Given the description of an element on the screen output the (x, y) to click on. 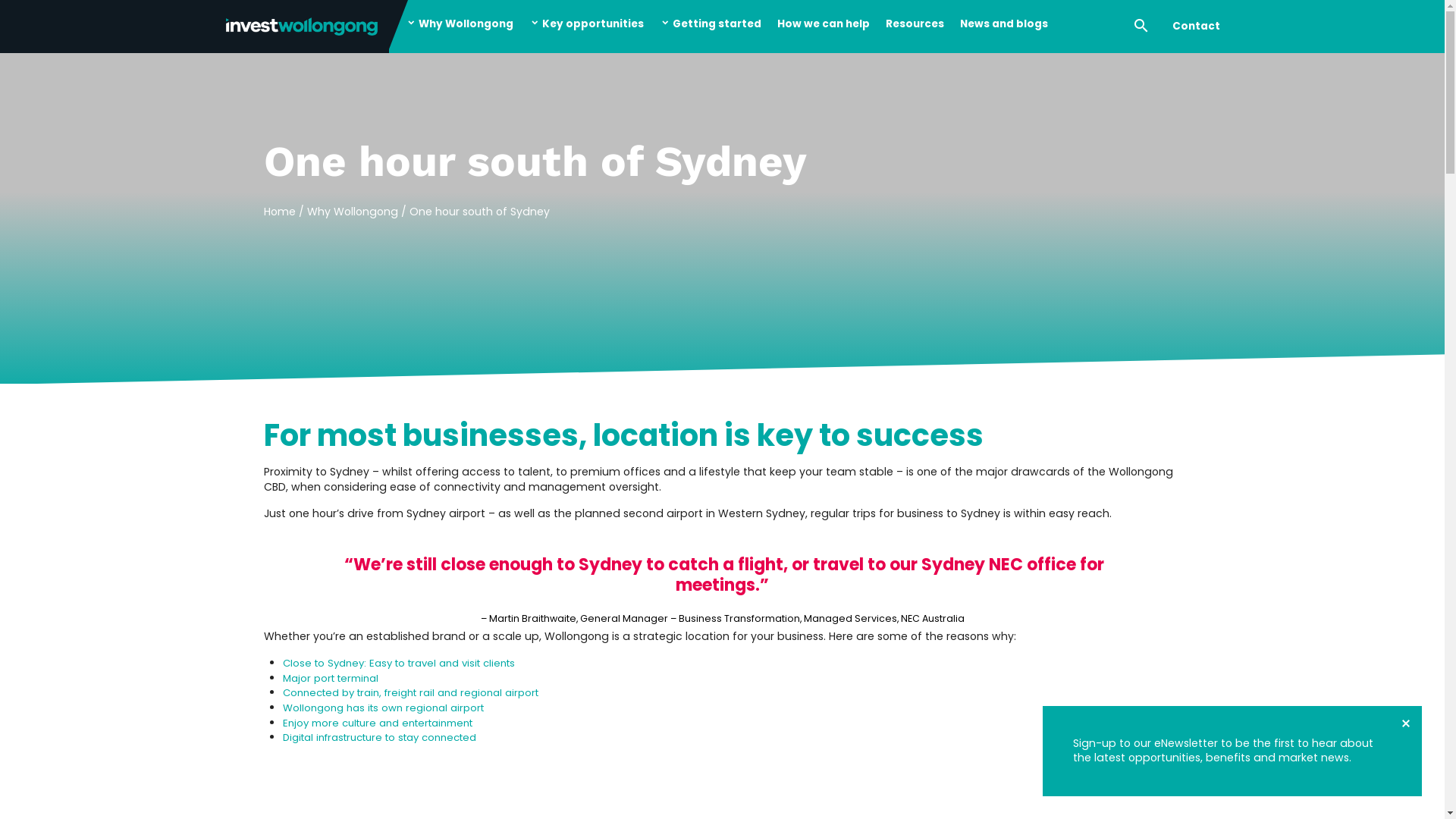
Close to Sydney: Easy to travel and visit clients Element type: text (398, 662)
Enjoy more culture and entertainment Element type: text (376, 722)
Contact Element type: text (1195, 26)
Why Wollongong Element type: text (454, 26)
Wollongong has its own regional airport Element type: text (382, 707)
News and blogs Element type: text (1004, 26)
Why Wollongong Element type: text (353, 211)
Resources Element type: text (915, 26)
Major port terminal Element type: text (329, 678)
Connected by train, freight rail and regional airport Element type: text (409, 692)
Home Element type: text (280, 211)
Digital infrastructure to stay connected Element type: text (378, 737)
Key opportunities Element type: text (586, 26)
How we can help Element type: text (822, 26)
One hour south of Sydney Element type: text (479, 211)
search Element type: text (1140, 26)
Getting started Element type: text (710, 26)
